Given the description of an element on the screen output the (x, y) to click on. 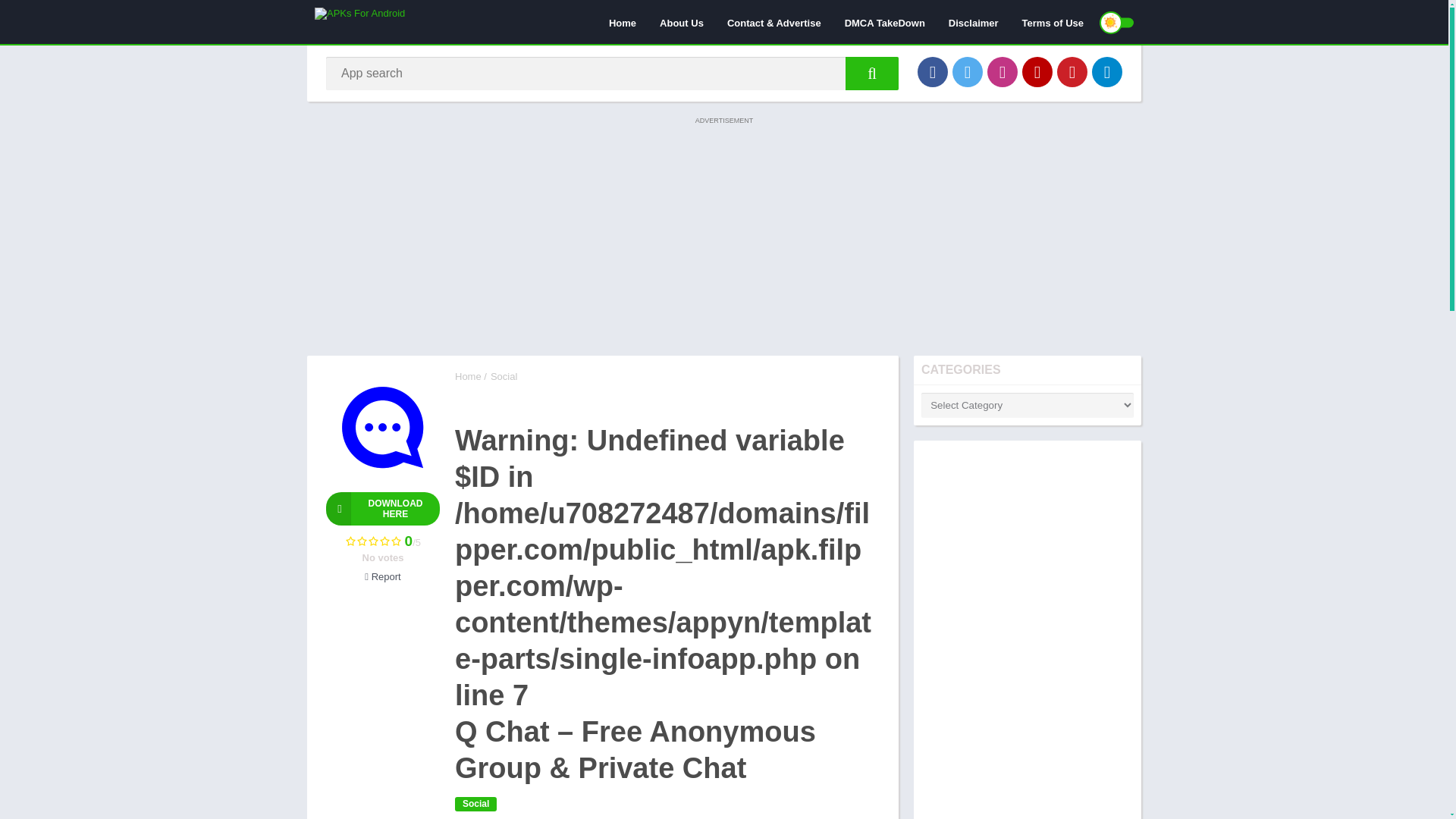
Twitter (967, 71)
Home (621, 22)
Disclaimer (973, 22)
Facebook (932, 71)
Telegram (1107, 71)
App search (871, 73)
Report (382, 576)
DMCA TakeDown (884, 22)
Terms of Use (1052, 22)
Pinterest (1072, 71)
YouTube (1037, 71)
Home (467, 376)
Social (475, 803)
DOWNLOAD HERE (382, 508)
